Given the description of an element on the screen output the (x, y) to click on. 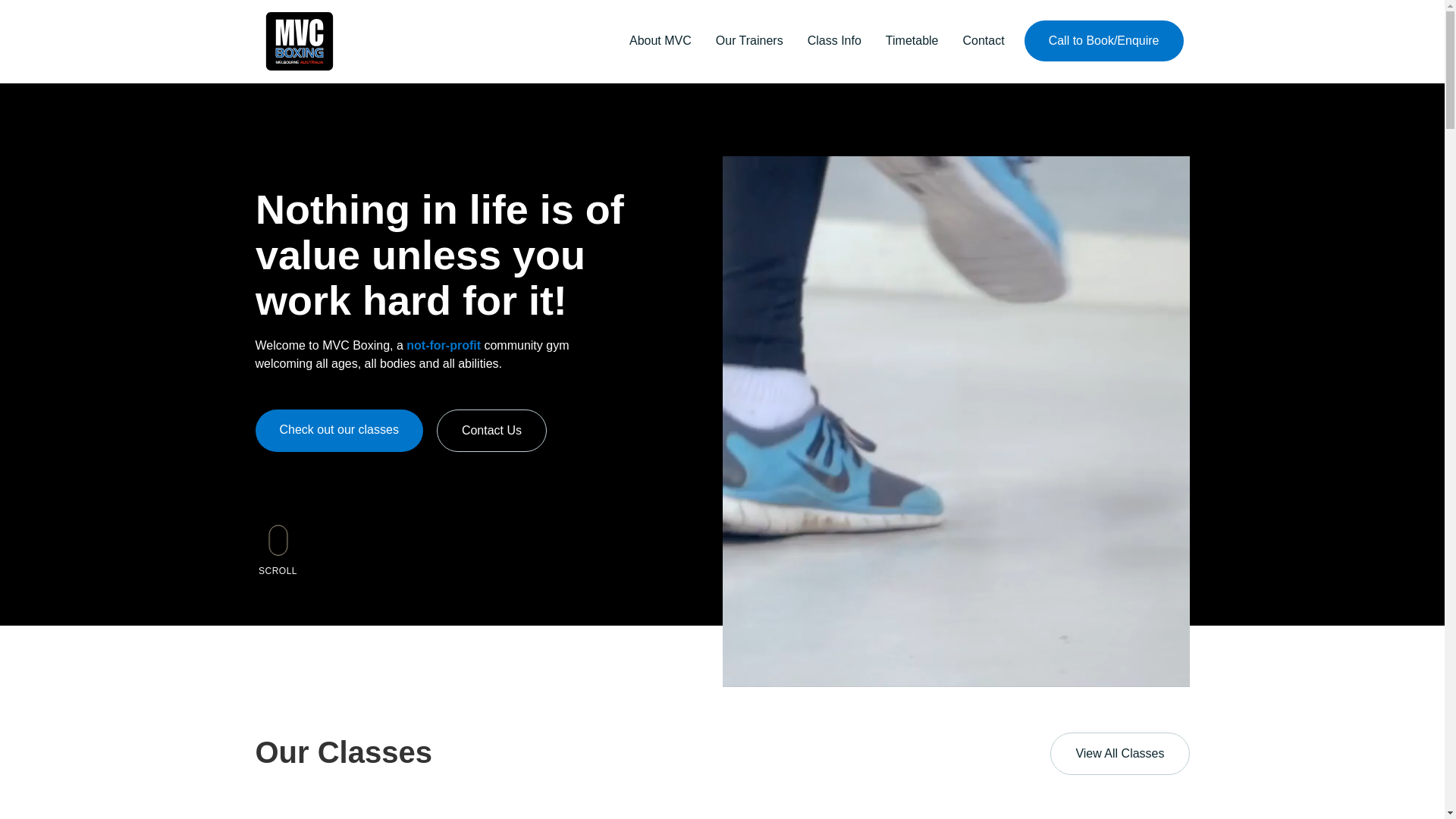
Call to Book/Enquire Element type: text (1103, 40)
Contact Element type: text (983, 40)
Contact Us Element type: text (491, 430)
SCROLL Element type: text (277, 546)
About MVC Element type: text (660, 40)
Class Info Element type: text (834, 40)
Check out our classes Element type: text (338, 430)
Timetable Element type: text (911, 40)
Our Trainers Element type: text (749, 40)
View All Classes Element type: text (1119, 753)
